Given the description of an element on the screen output the (x, y) to click on. 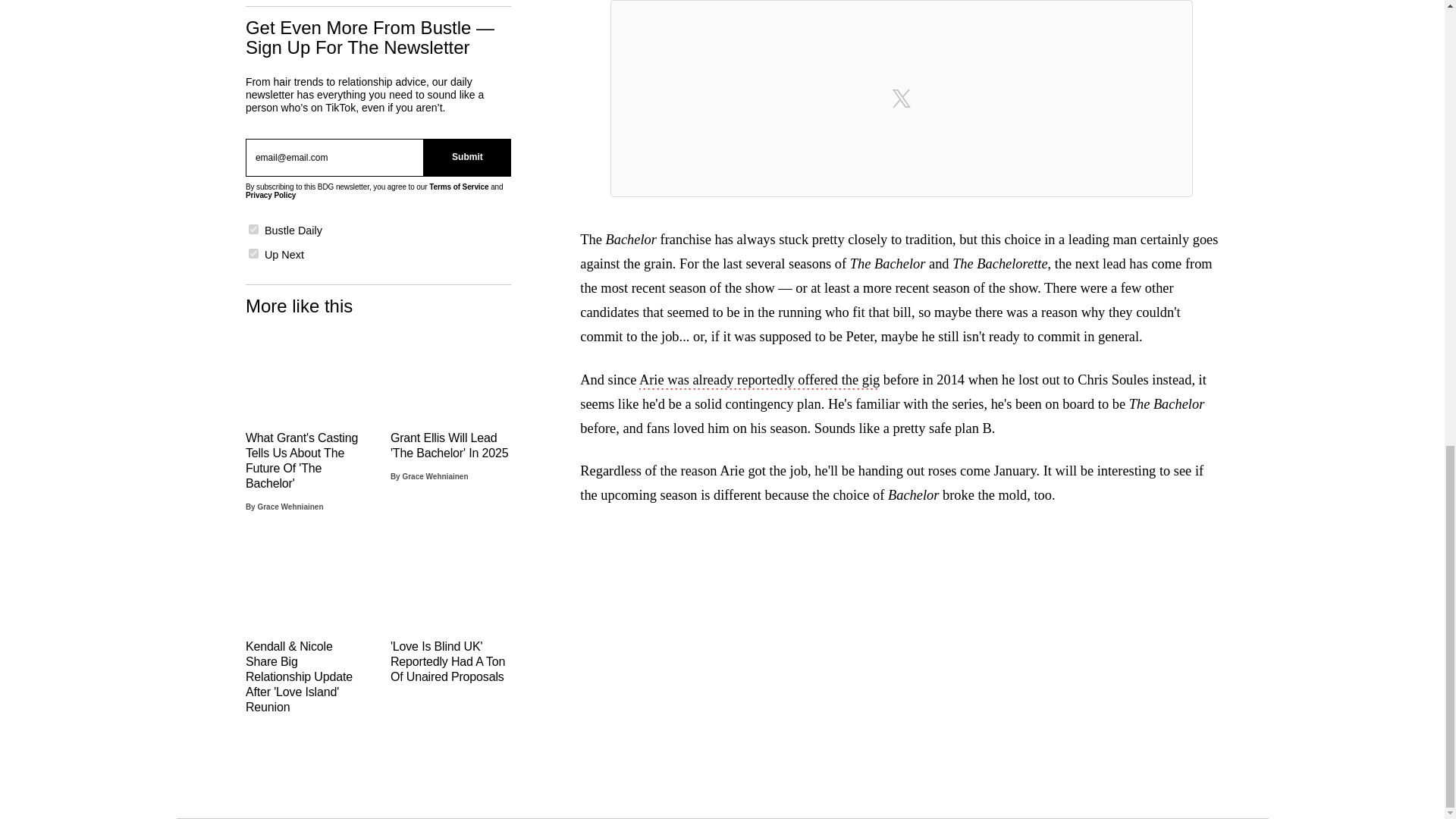
Terms of Service (458, 186)
Arie was already reportedly offered the gig (759, 381)
Privacy Policy (270, 194)
Submit (467, 157)
